Given the description of an element on the screen output the (x, y) to click on. 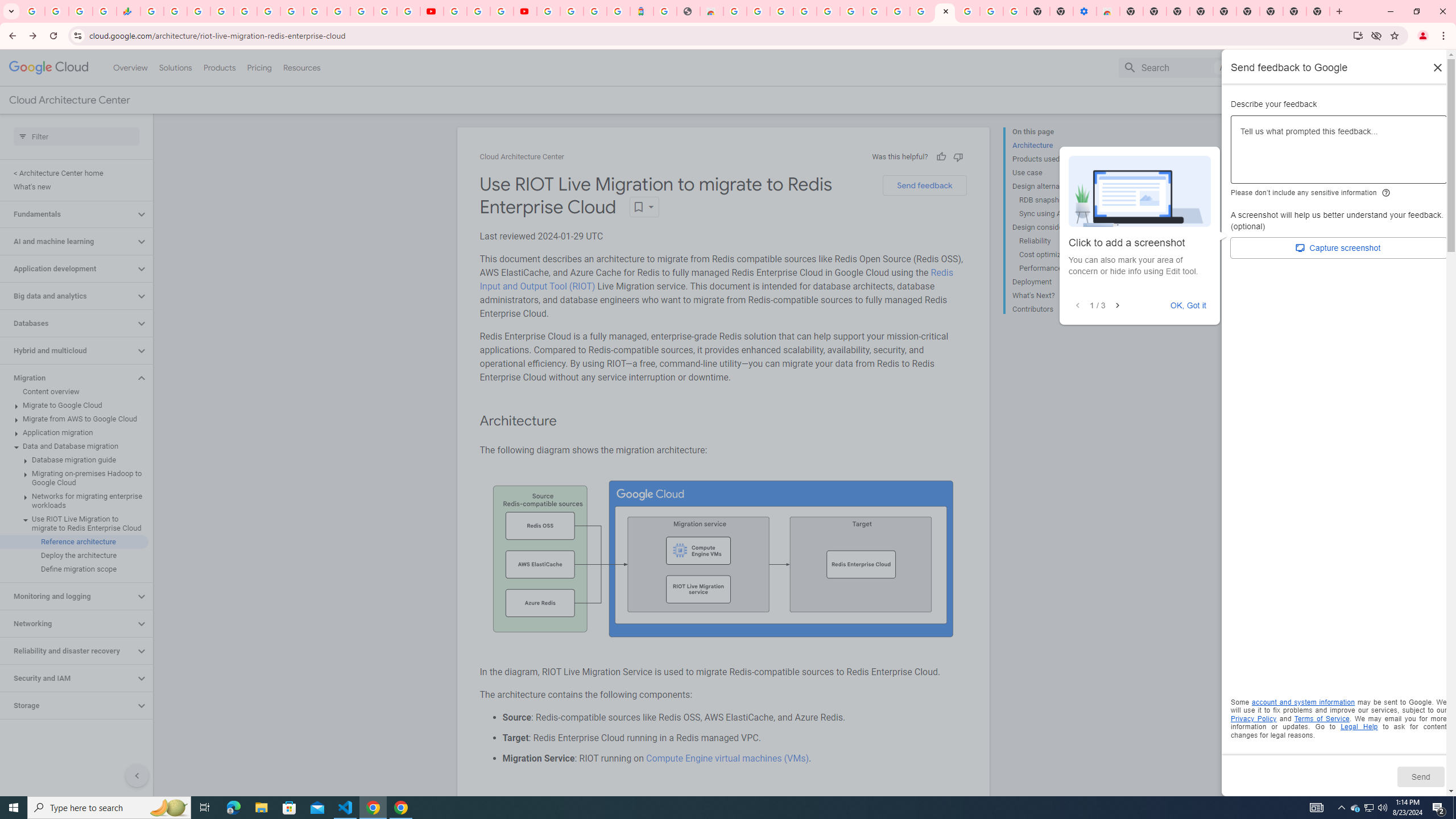
Reliability (1062, 241)
Products (218, 67)
YouTube (454, 11)
Send (1420, 776)
Sync using Active-Passive (1062, 213)
Design alternatives (1058, 186)
YouTube (431, 11)
